Given the description of an element on the screen output the (x, y) to click on. 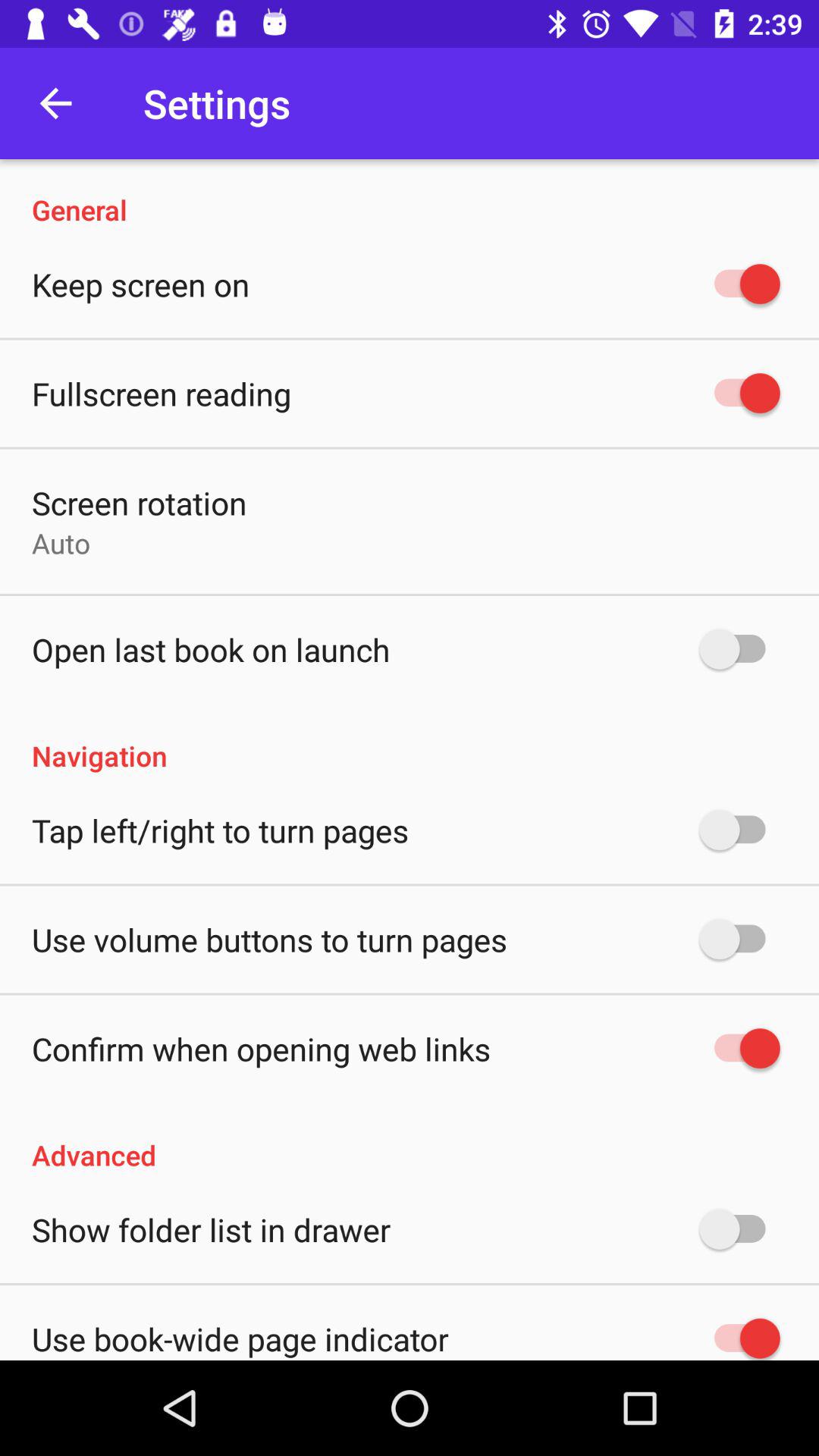
turn on tap left right item (219, 829)
